Given the description of an element on the screen output the (x, y) to click on. 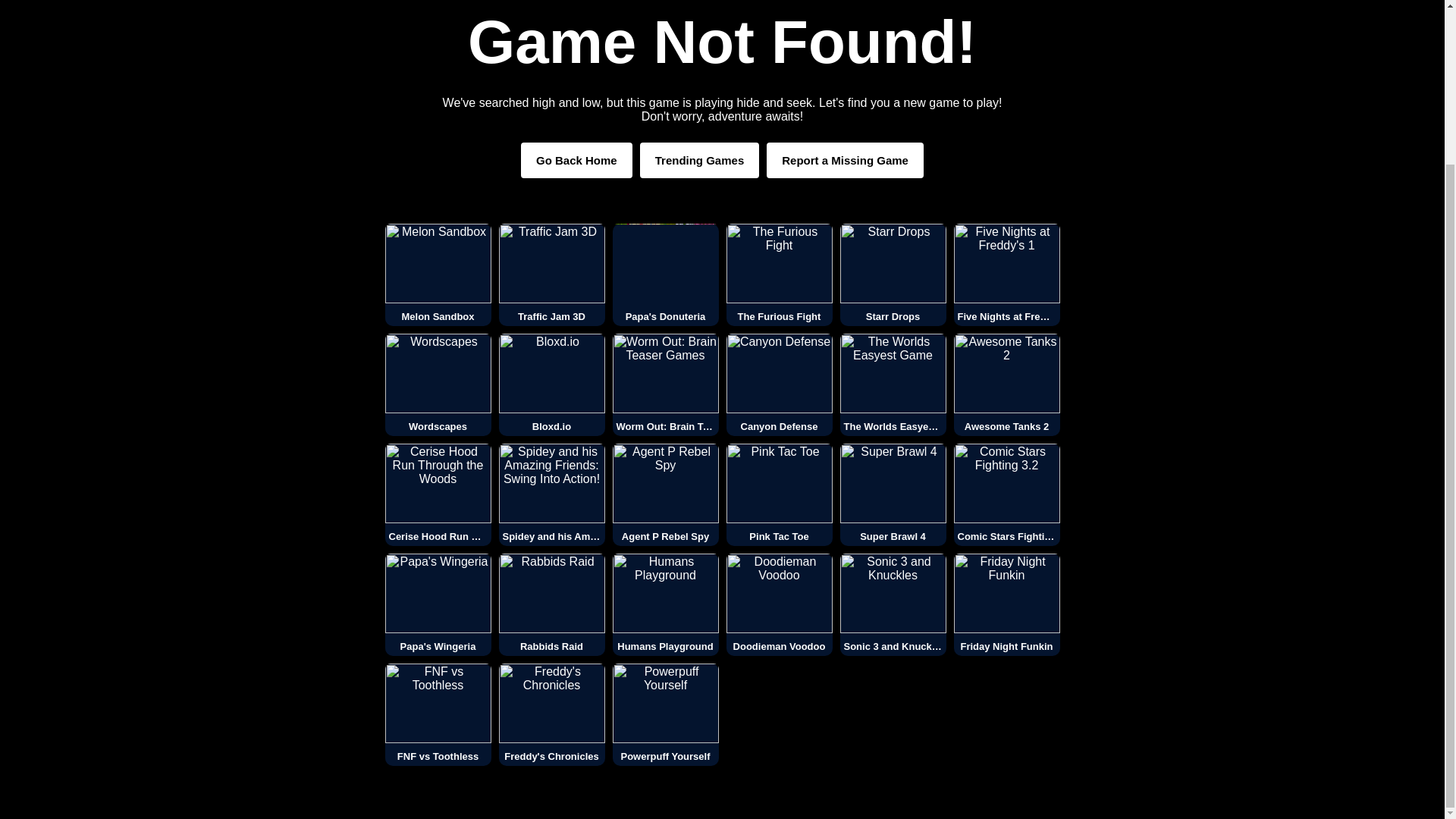
FNF vs Toothless (438, 714)
Powerpuff Yourself (665, 714)
Friday Night Funkin (1006, 604)
Bloxd.io (552, 384)
Canyon Defense (779, 384)
The Furious Fight (779, 274)
Papa's Donuteria (665, 274)
Agent P Rebel Spy (665, 494)
Papa's Wingeria (438, 604)
Comic Stars Fighting 3.2 (1006, 494)
Super Brawl 4 (893, 494)
Starr Drops (893, 274)
Doodieman Voodoo (779, 604)
Humans Playground (665, 604)
Trending Games (700, 160)
